Given the description of an element on the screen output the (x, y) to click on. 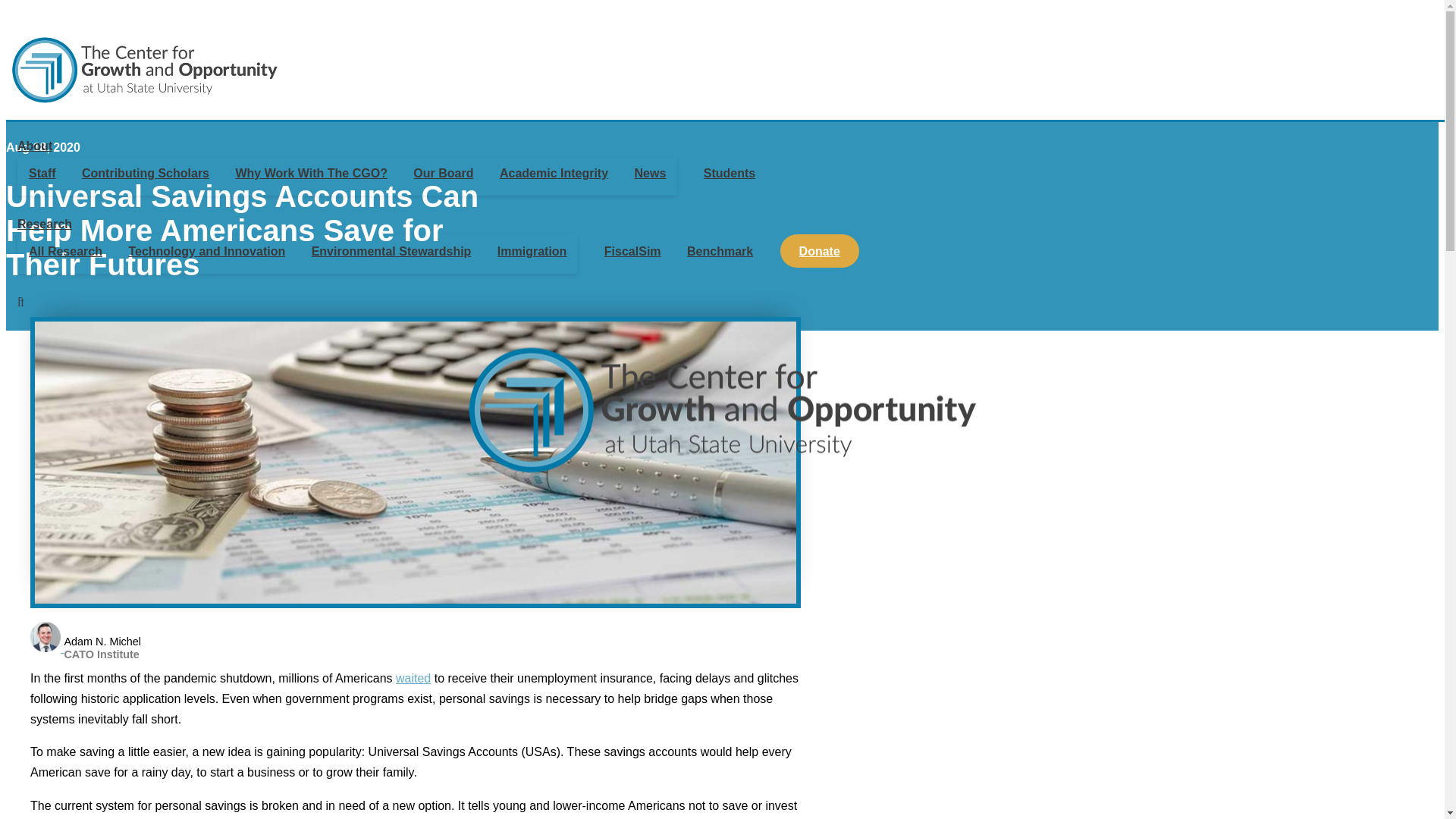
waited (413, 677)
Environmental Stewardship (391, 250)
Staff (42, 173)
News (650, 173)
Our Board (443, 173)
FiscalSim (632, 250)
All Research (65, 250)
Donate (819, 250)
Technology and Innovation (206, 250)
Students (729, 173)
Immigration (532, 250)
Research (85, 638)
About (44, 223)
Why Work With The CGO? (34, 145)
